Given the description of an element on the screen output the (x, y) to click on. 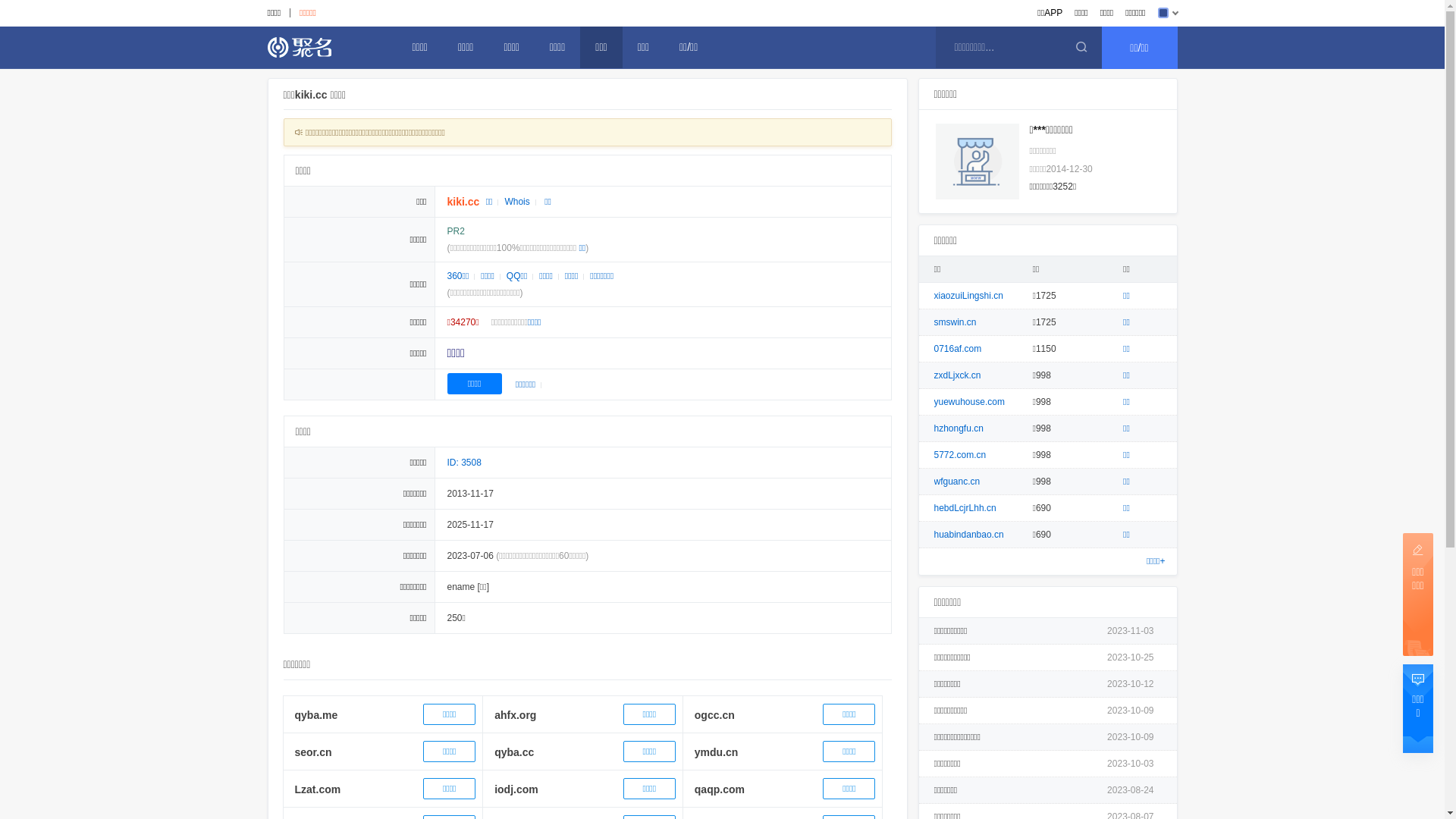
hzhongfu.cn Element type: text (958, 428)
xiaozuiLingshi.cn Element type: text (968, 295)
smswin.cn Element type: text (955, 321)
huabindanbao.cn Element type: text (969, 534)
PR2 Element type: text (455, 230)
0716af.com Element type: text (958, 348)
yuewuhouse.com Element type: text (969, 401)
ID: 3508 Element type: text (464, 462)
5772.com.cn Element type: text (960, 454)
wfguanc.cn Element type: text (957, 481)
Whois Element type: text (516, 201)
zxdLjxck.cn Element type: text (957, 375)
hebdLcjrLhh.cn Element type: text (965, 507)
